Given the description of an element on the screen output the (x, y) to click on. 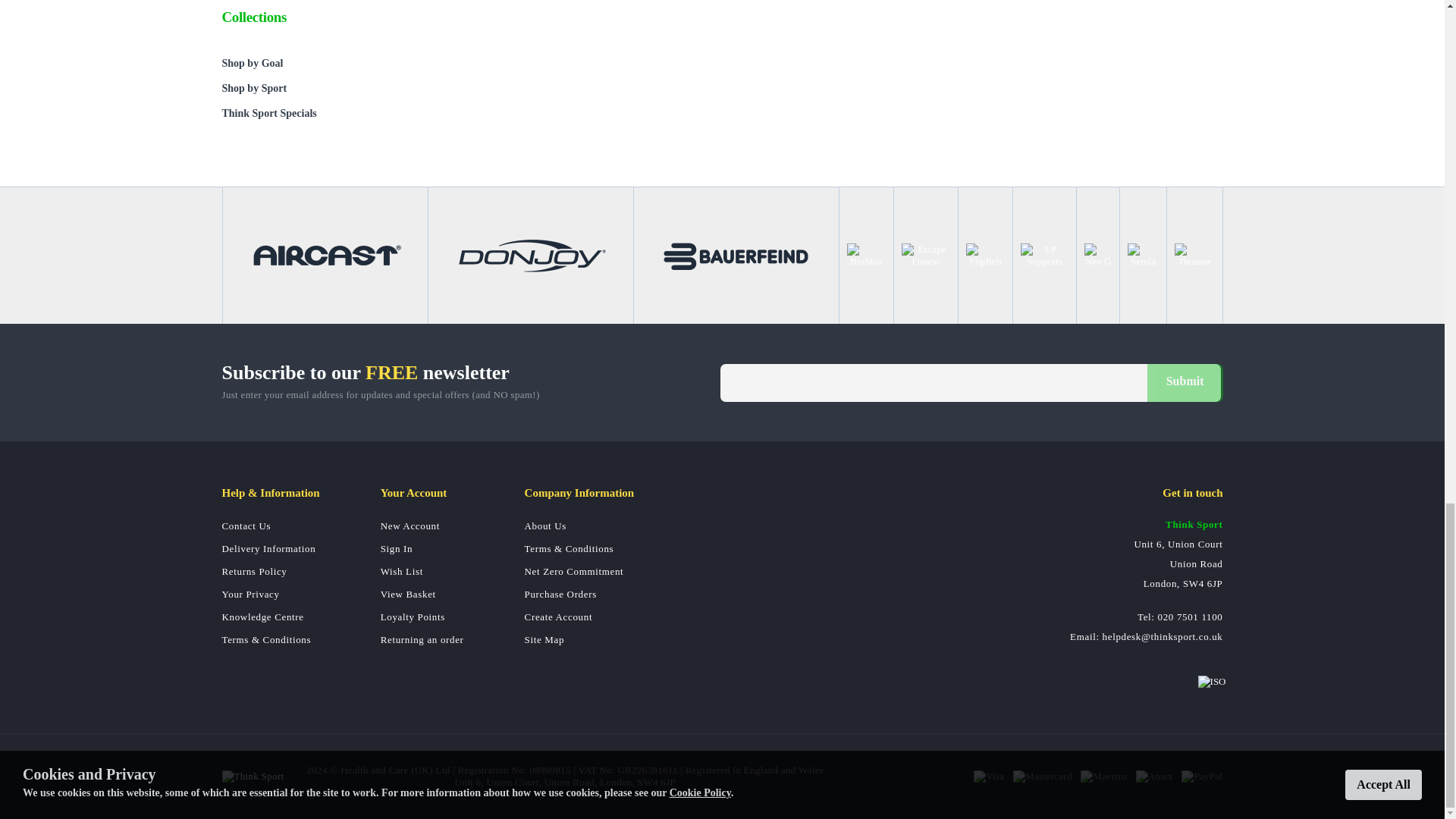
Escape Fitness (925, 255)
FlipBelt (985, 255)
BioSkin (866, 255)
LP Supports (1044, 255)
Think Sport Specials (327, 113)
Serola (1142, 255)
Neo G (1098, 255)
Shop by Goal (327, 63)
Shop by Sport (327, 88)
